Given the description of an element on the screen output the (x, y) to click on. 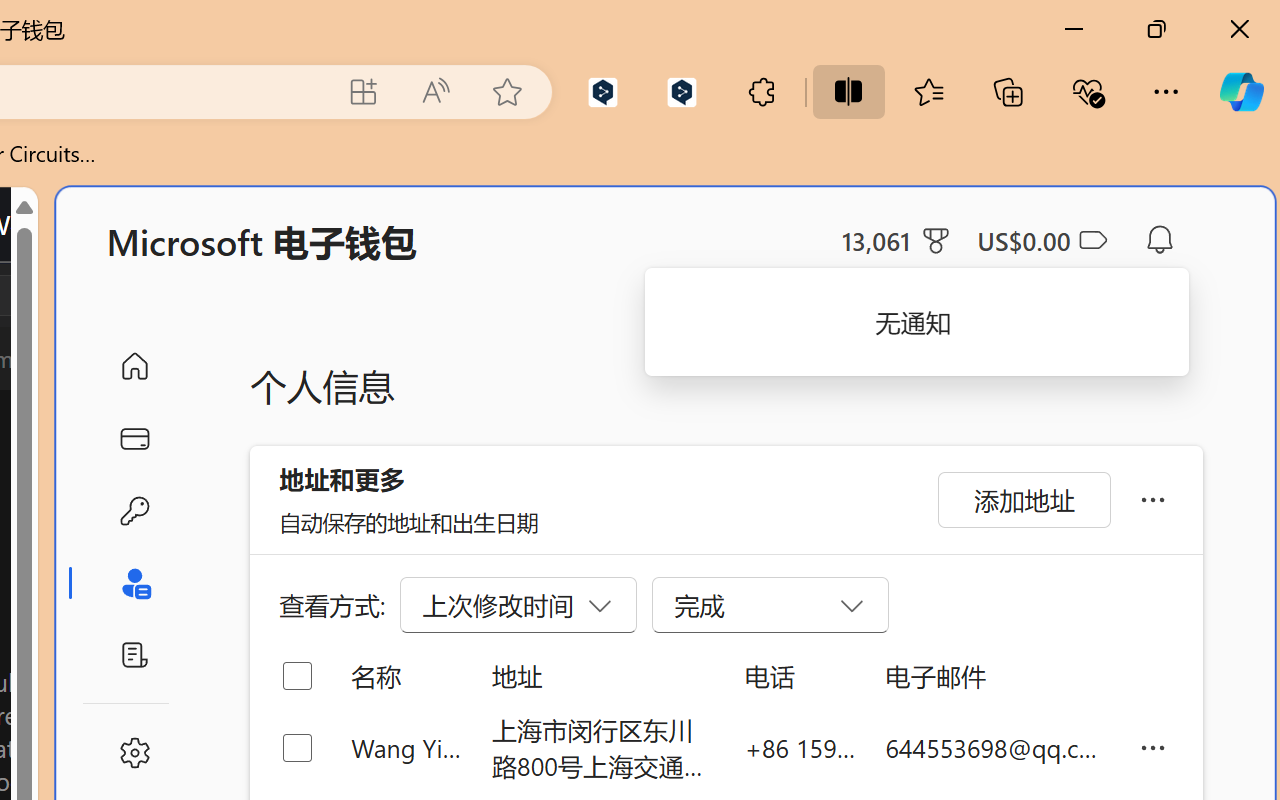
Microsoft Cashback - US$0.00 (1041, 240)
+86 159 0032 4640 (799, 747)
644553698@qq.com (996, 747)
Class: actions-container (94, 295)
